Given the description of an element on the screen output the (x, y) to click on. 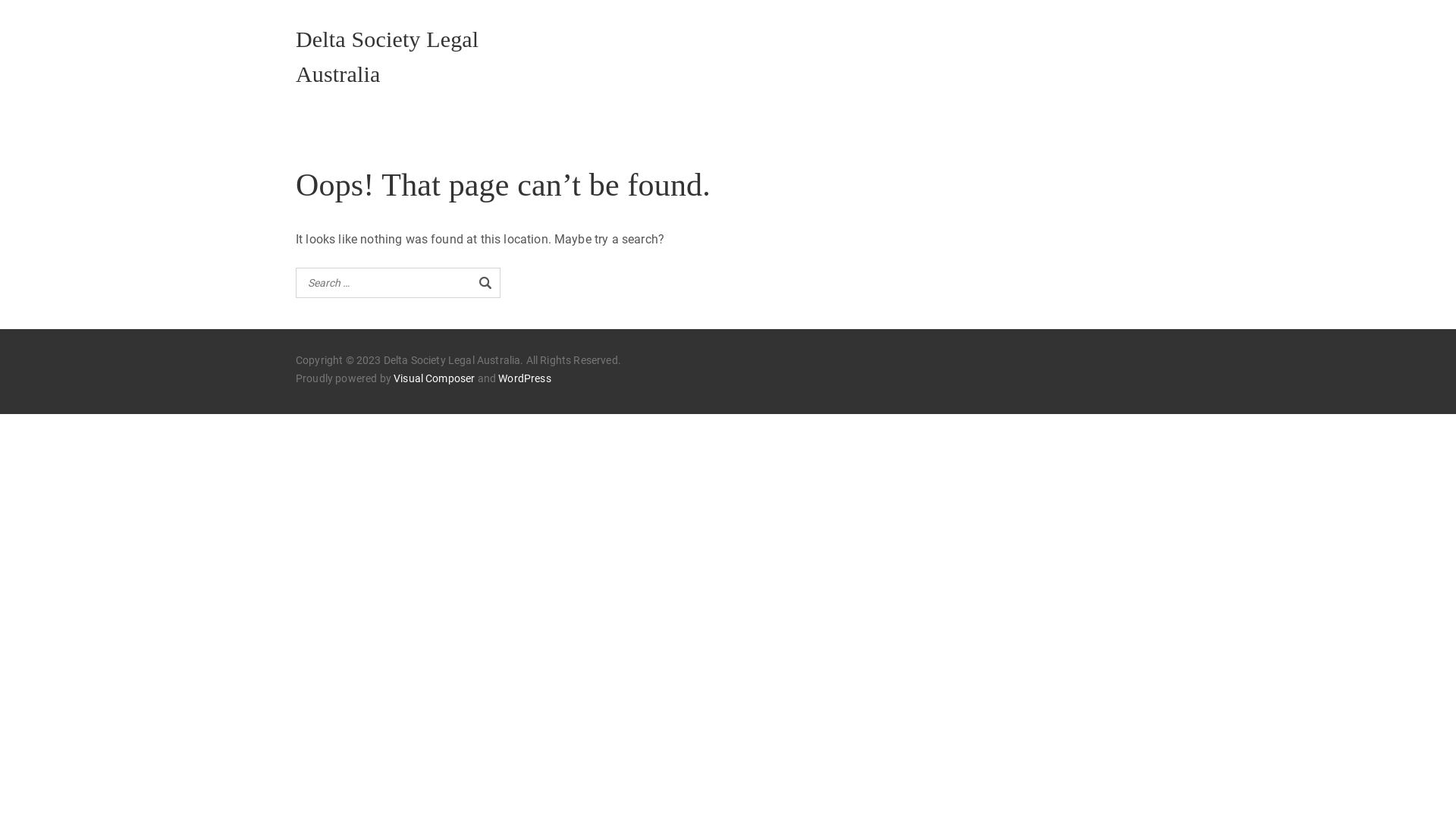
Visual Composer Element type: text (433, 378)
WordPress Element type: text (524, 378)
Delta Society Legal Australia Element type: text (386, 56)
